Given the description of an element on the screen output the (x, y) to click on. 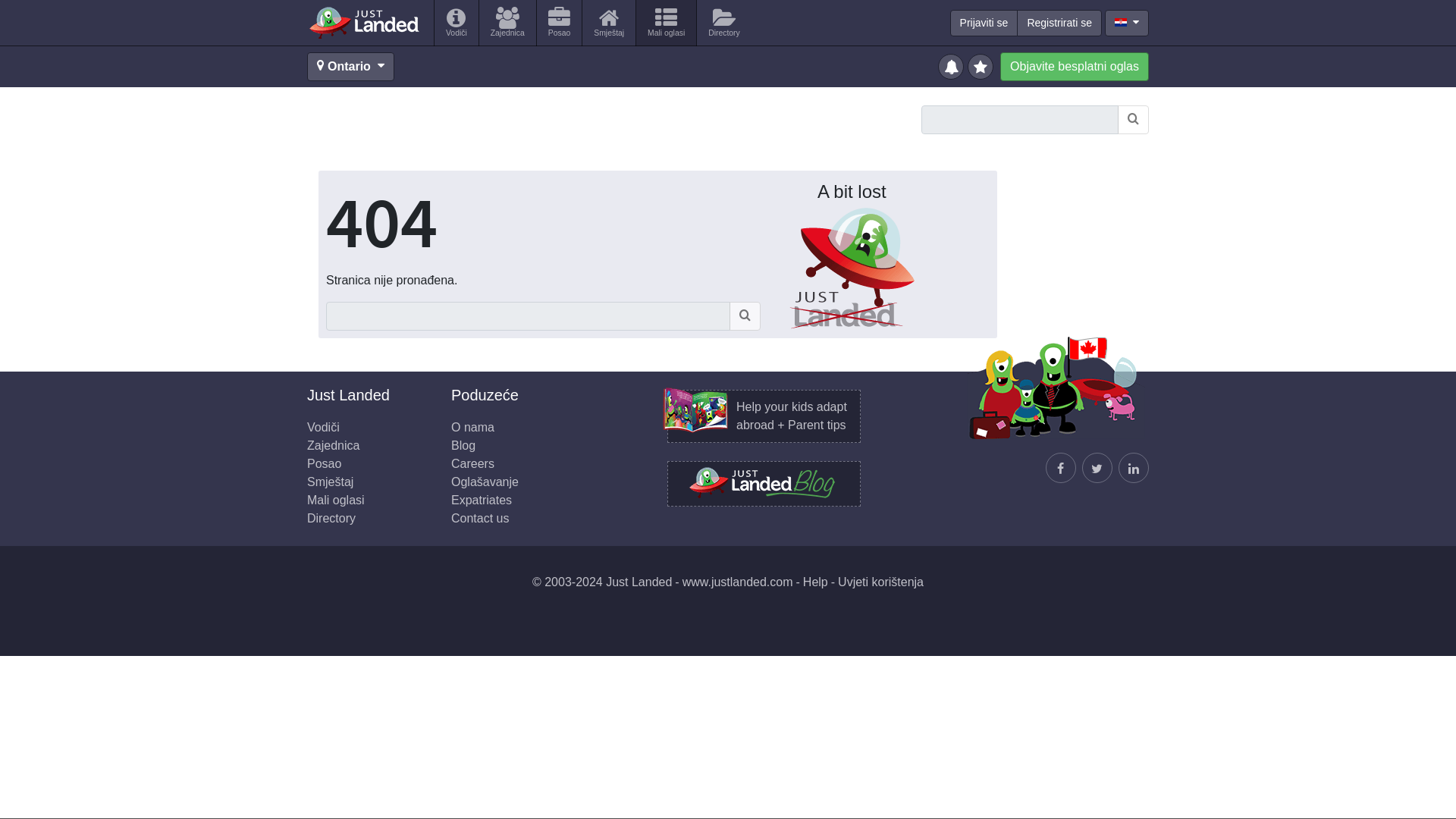
Directory u Ontario (724, 22)
Just Landed (364, 22)
Directory (724, 22)
Alerts (952, 65)
Mali oglasi (336, 499)
Mali oglasi (665, 22)
Zajednica u Ontario (507, 22)
Croatian (1120, 22)
Posao (558, 22)
O nama (473, 427)
